Given the description of an element on the screen output the (x, y) to click on. 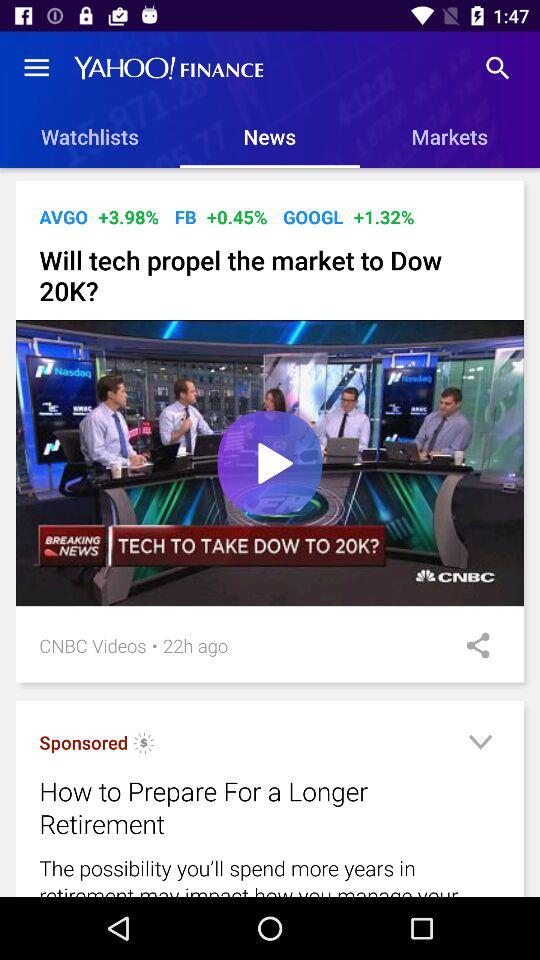
sponsors (143, 745)
